Given the description of an element on the screen output the (x, y) to click on. 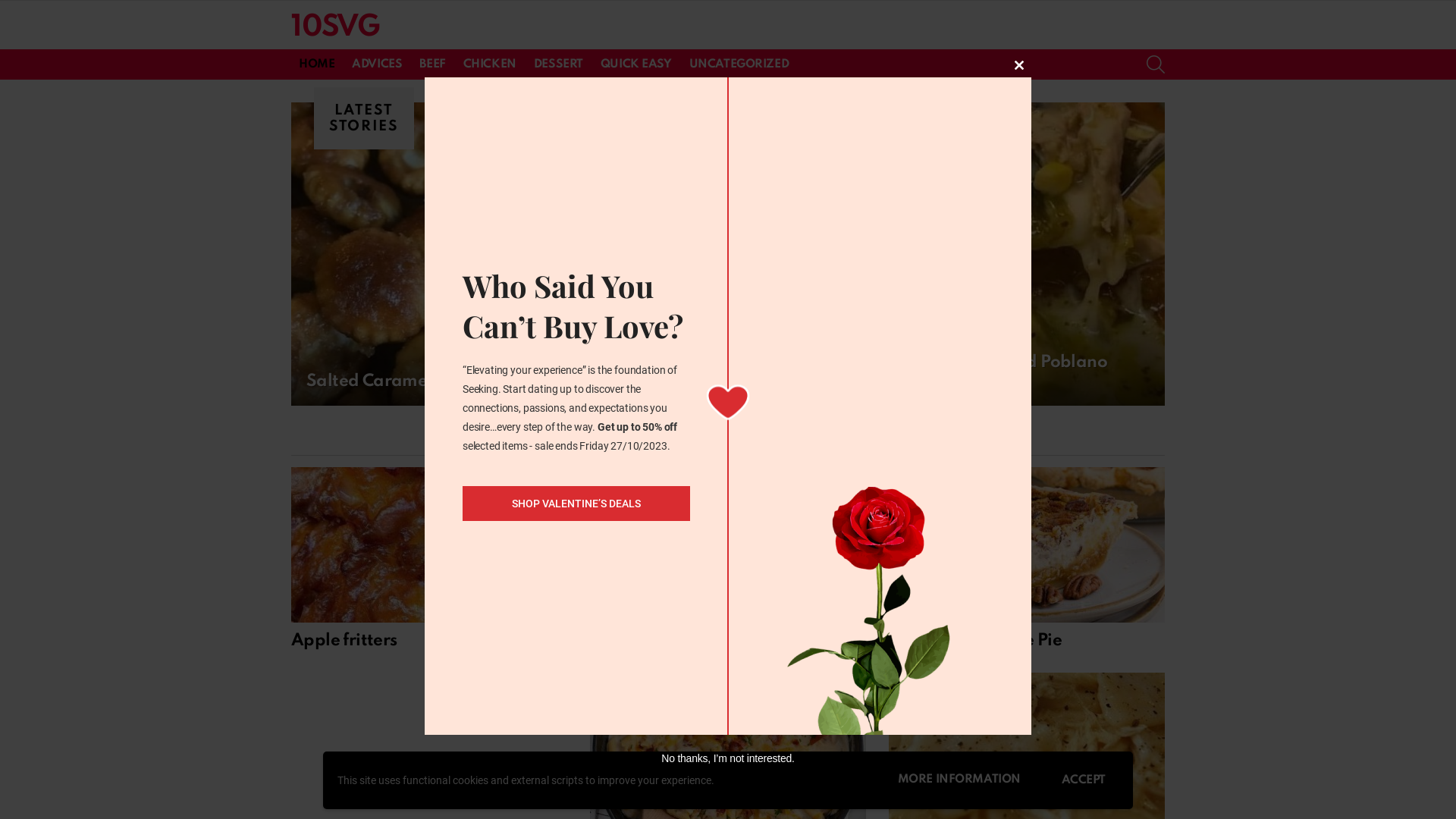
Chicken & Roasted Poblano Soup Element type: hover (1018, 253)
Ham and White Bean Soup Recipe Element type: hover (727, 544)
Ham and White Bean Soup Recipe Element type: text (724, 640)
HOME Element type: text (316, 64)
German Potato Pancakes Element type: text (698, 381)
Pecan Cheesecake Pie Element type: hover (1026, 544)
DESSERT Element type: text (558, 64)
CLOSE THIS MODULE Element type: text (1019, 65)
UNCATEGORIZED Element type: text (739, 64)
QUICK EASY Element type: text (636, 64)
ADVICES Element type: text (376, 64)
Chicken & Roasted Poblano Soup Element type: text (997, 371)
ACCEPT Element type: text (1083, 779)
10SVG Element type: text (335, 27)
BEEF Element type: text (431, 64)
Salted Caramel Bites Element type: text (389, 381)
Apple fritters Element type: text (344, 640)
Salted Caramel Bites Element type: hover (436, 253)
CHICKEN Element type: text (489, 64)
SEARCH Element type: text (1155, 64)
Apple fritters Element type: hover (429, 544)
German Potato Pancakes Element type: hover (727, 253)
MORE INFORMATION Element type: text (958, 780)
Pecan Cheesecake Pie Element type: text (974, 640)
